Given the description of an element on the screen output the (x, y) to click on. 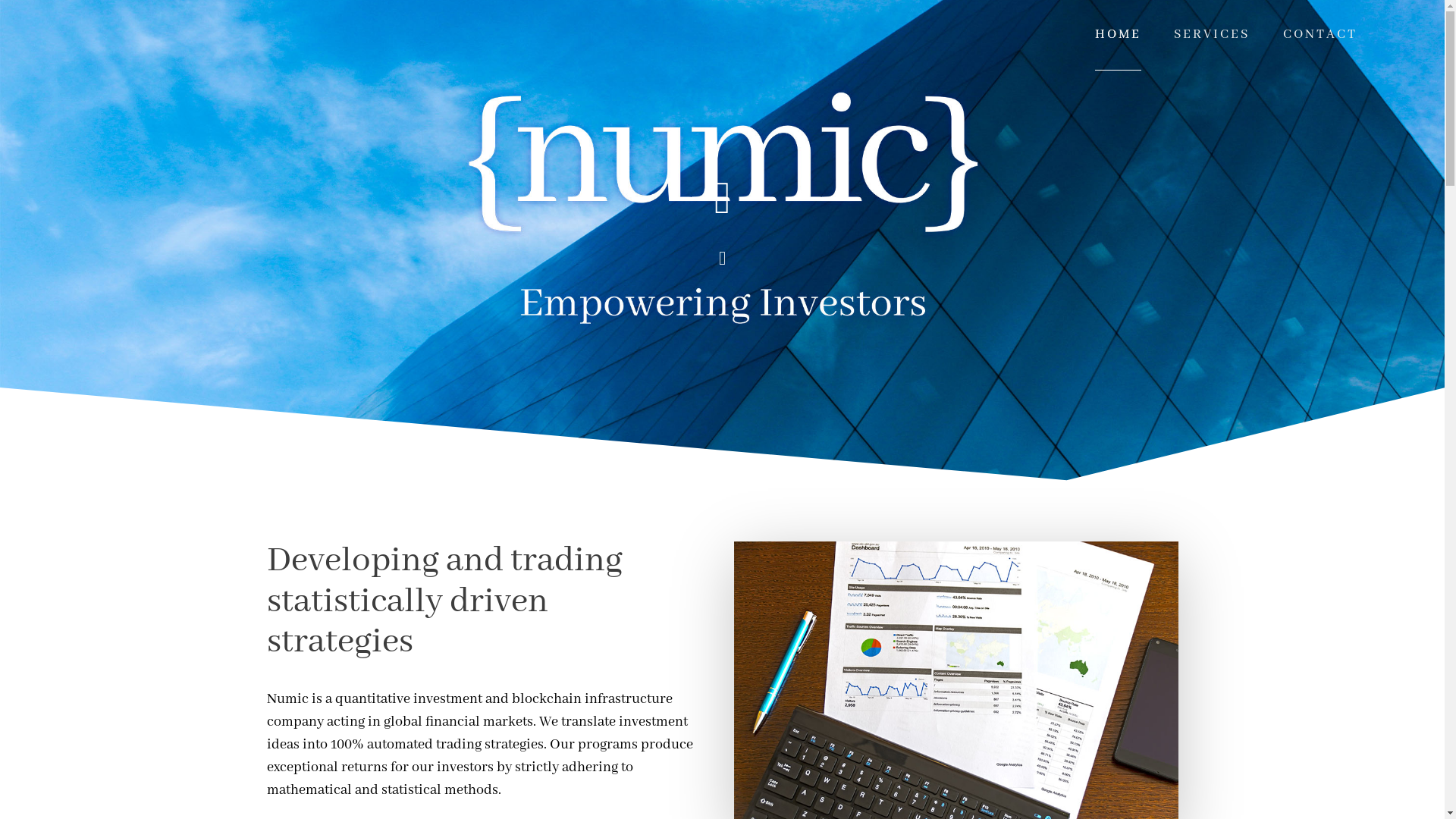
SERVICES Element type: text (1211, 34)
CONTACT Element type: text (1320, 34)
HOME Element type: text (1118, 35)
